Given the description of an element on the screen output the (x, y) to click on. 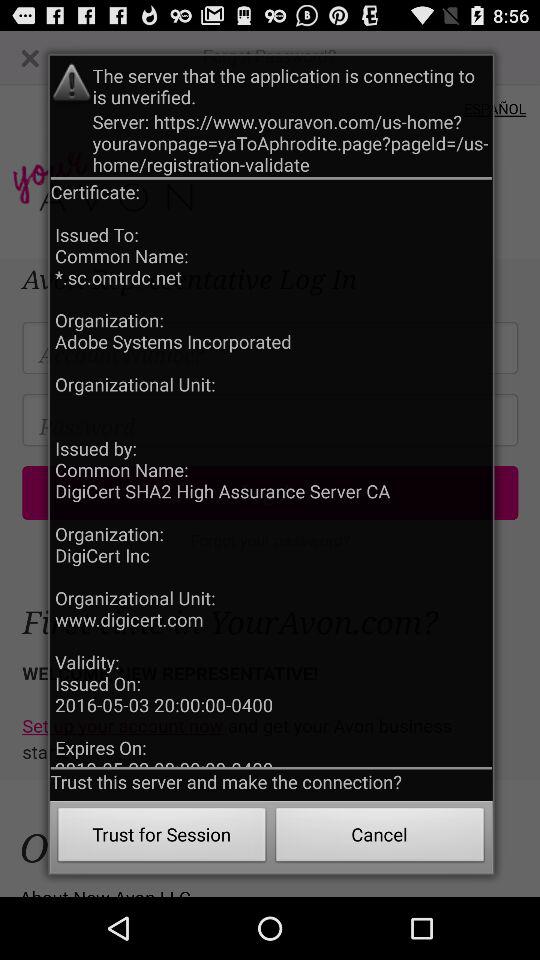
press icon at the bottom left corner (162, 837)
